Given the description of an element on the screen output the (x, y) to click on. 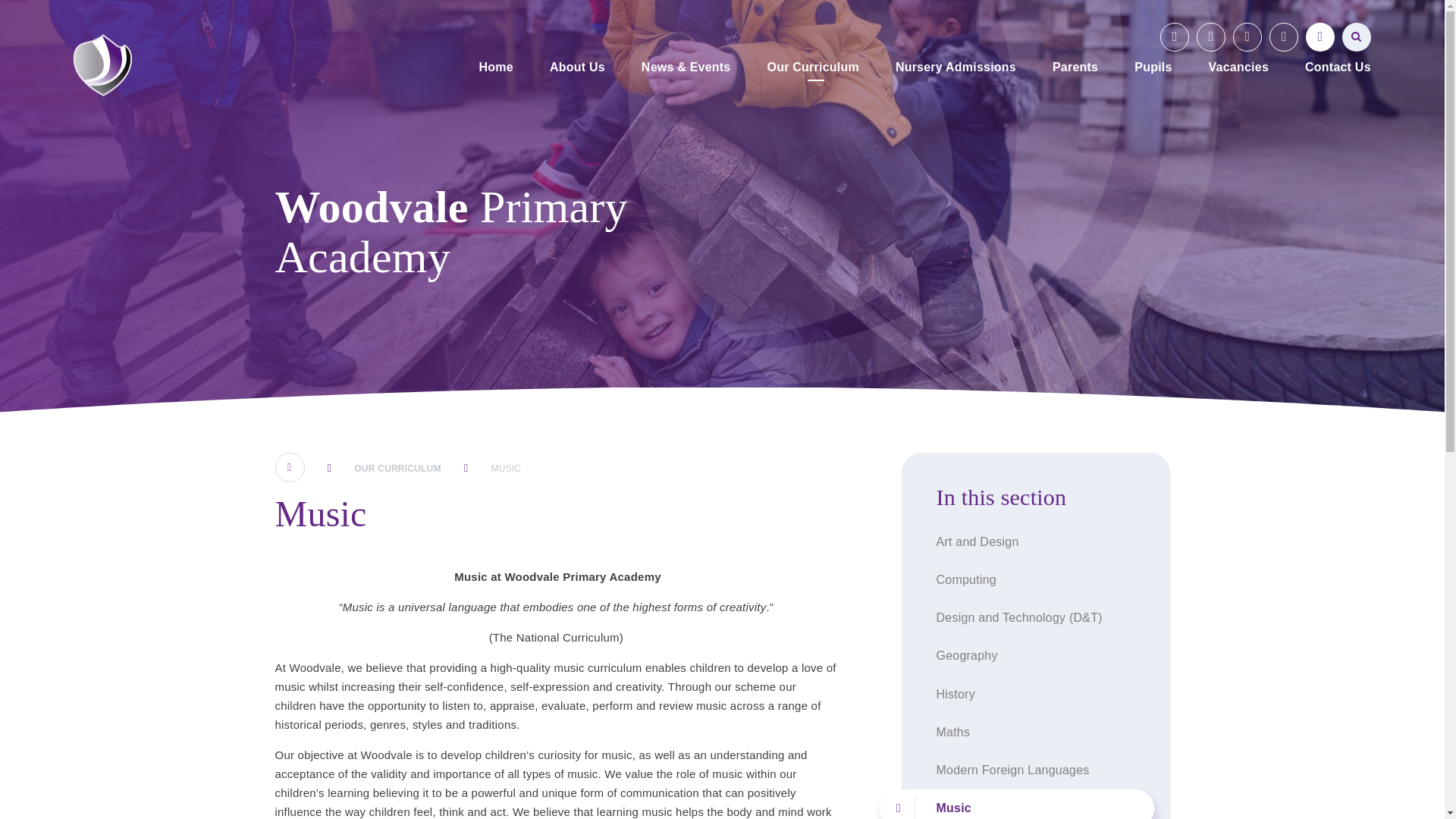
Facebook (1210, 36)
Search... (1356, 36)
Twitter (1247, 36)
Home (496, 67)
search... (1356, 36)
Woodvale Primary Academy (103, 64)
Search... (1356, 36)
About Us (577, 67)
YouTube (1174, 36)
